Given the description of an element on the screen output the (x, y) to click on. 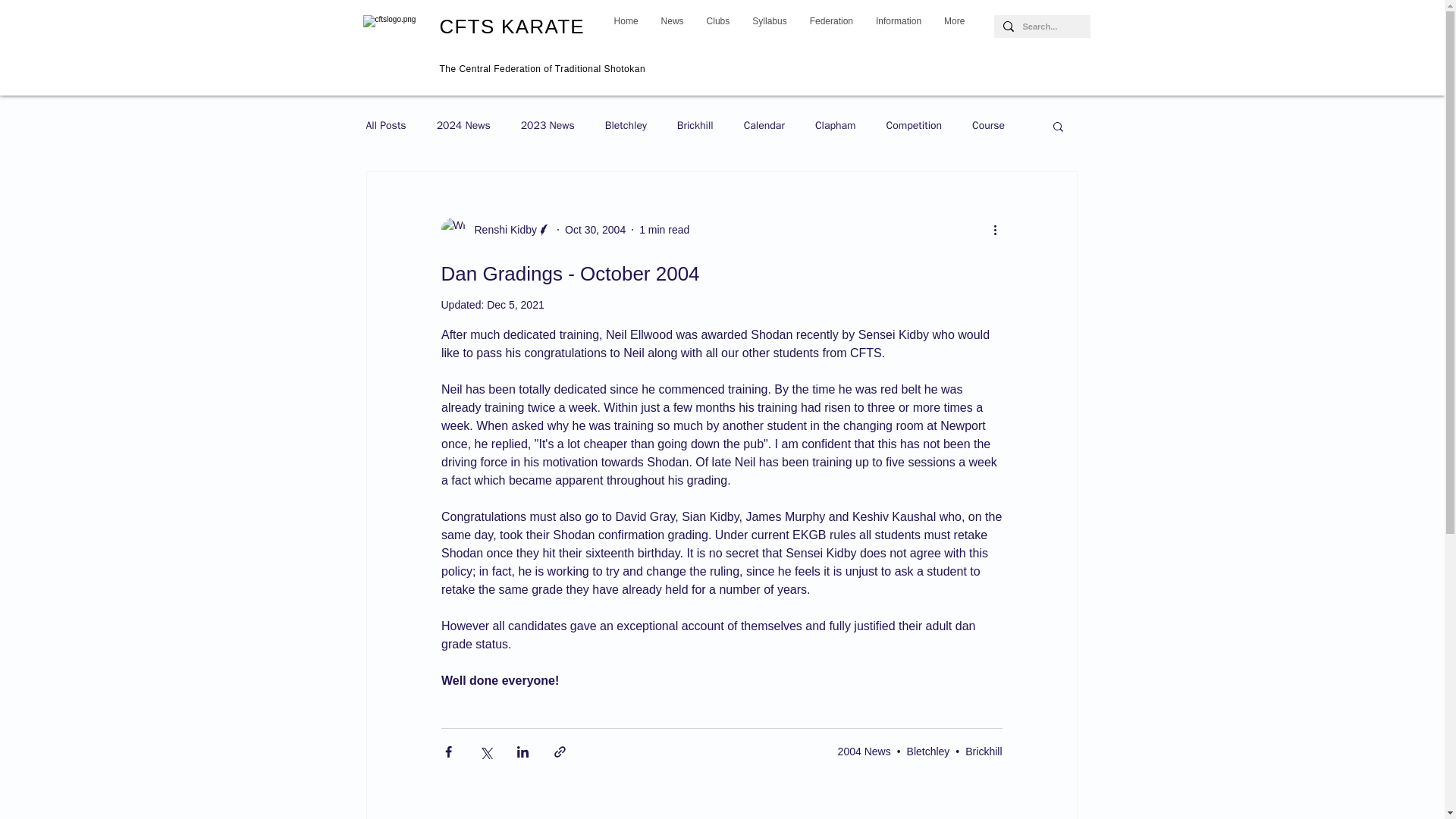
Renshi Kidby (501, 229)
CFTS KARATE (512, 26)
Clubs (718, 25)
1 min read (663, 228)
News (672, 25)
Dec 5, 2021 (515, 304)
Home (625, 25)
Oct 30, 2004 (595, 228)
